Given the description of an element on the screen output the (x, y) to click on. 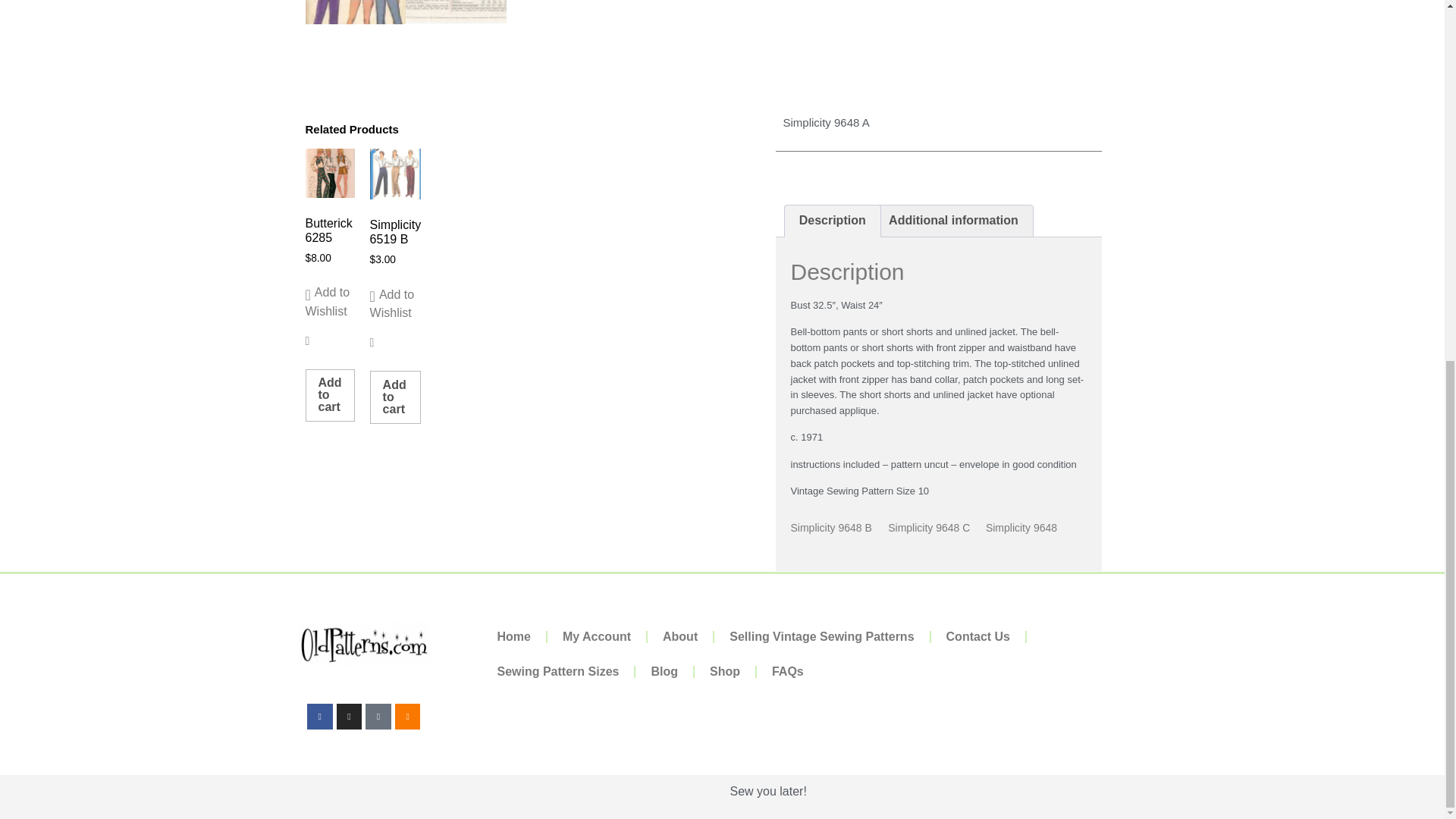
Simplicity 9648 (1021, 527)
Add to cart (395, 397)
Add to Wishlist (328, 301)
Simplicity 9648 C (928, 527)
Simplicity 9648 B (830, 527)
Additional information (953, 220)
Description (831, 220)
Simplicity 9648 B (830, 527)
Simplicity 9648 (1021, 527)
Simplicity 9648 C (928, 527)
Add to Wishlist (395, 303)
Add to cart (328, 395)
